Given the description of an element on the screen output the (x, y) to click on. 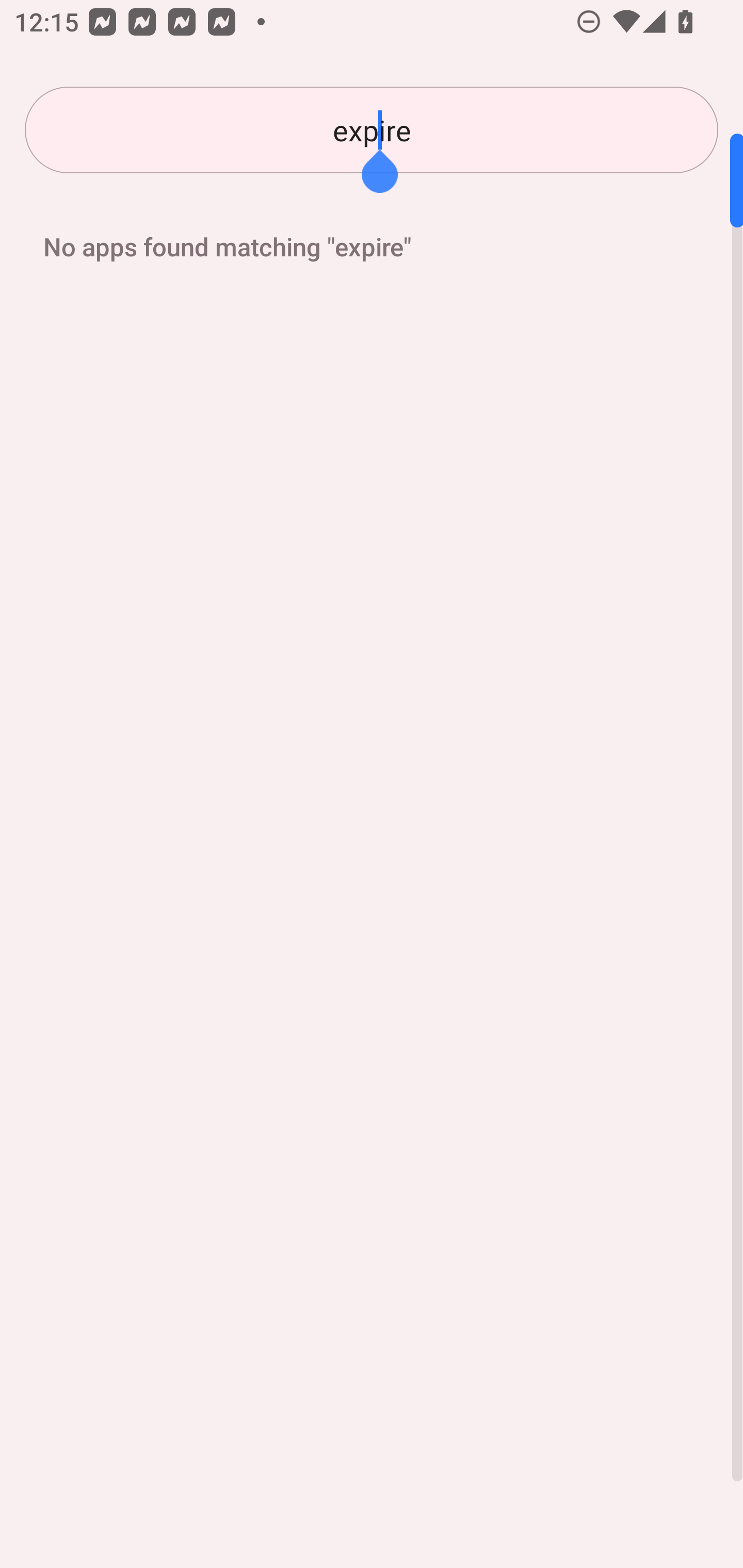
expire (371, 130)
